Given the description of an element on the screen output the (x, y) to click on. 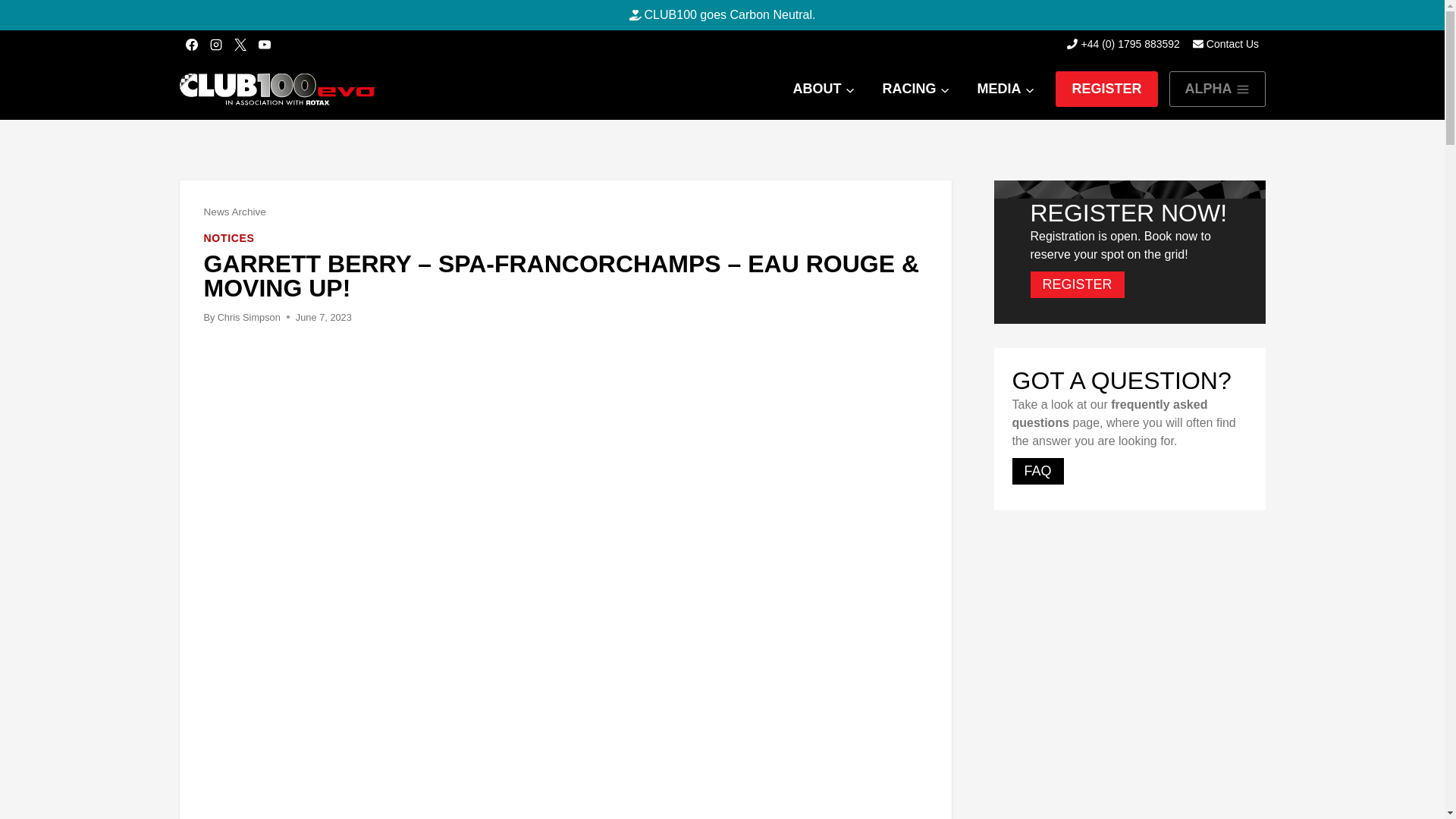
Contact Us (1225, 44)
MEDIA (1005, 88)
ABOUT (822, 88)
RACING (914, 88)
